Given the description of an element on the screen output the (x, y) to click on. 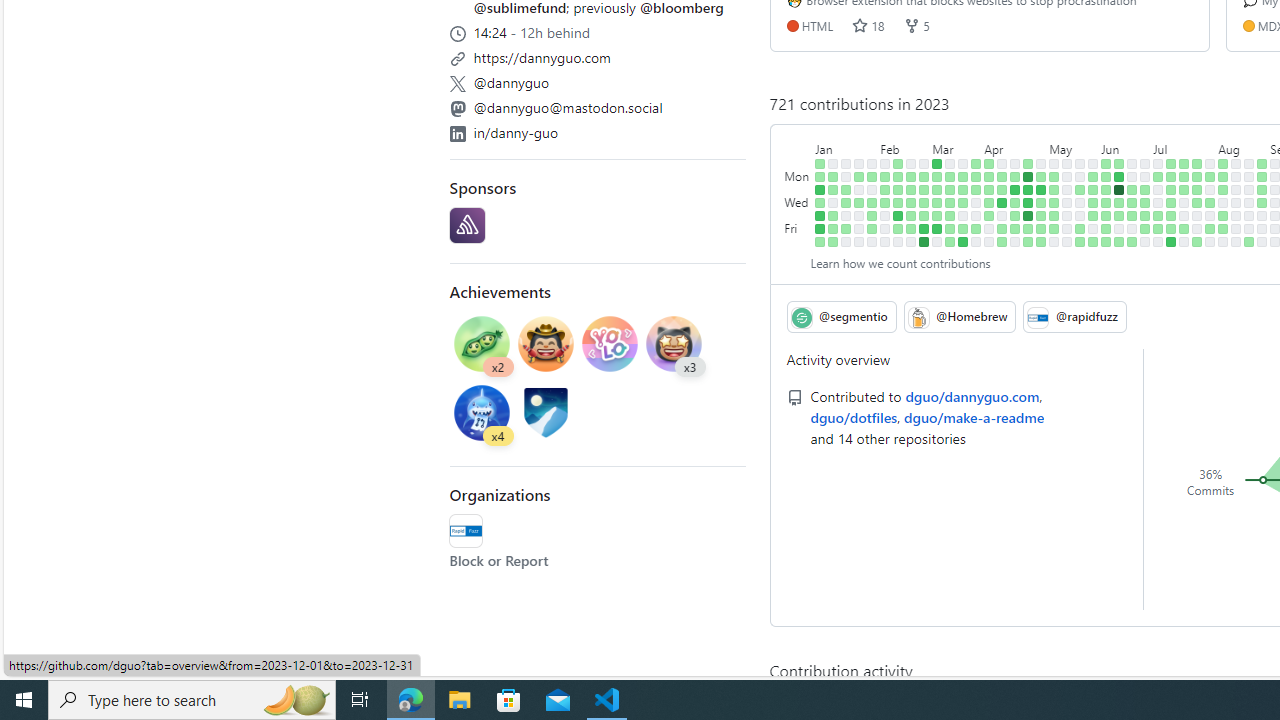
1 contribution on June 29th. (1145, 215)
No contributions on June 26th. (1145, 176)
No contributions on August 1st. (1210, 189)
3 contributions on February 1st. (872, 202)
6 contributions on July 11th. (1171, 189)
No contributions on May 13th. (1054, 241)
No contributions on April 30th. (1041, 163)
1 contribution on January 17th. (846, 189)
1 contribution on June 20th. (1131, 189)
1 contribution on January 14th. (833, 241)
No contributions on May 21st. (1080, 163)
June (1125, 145)
3 contributions on April 11th. (1002, 189)
1 contribution on January 9th. (833, 176)
1 contribution on July 21st. (1184, 228)
